Given the description of an element on the screen output the (x, y) to click on. 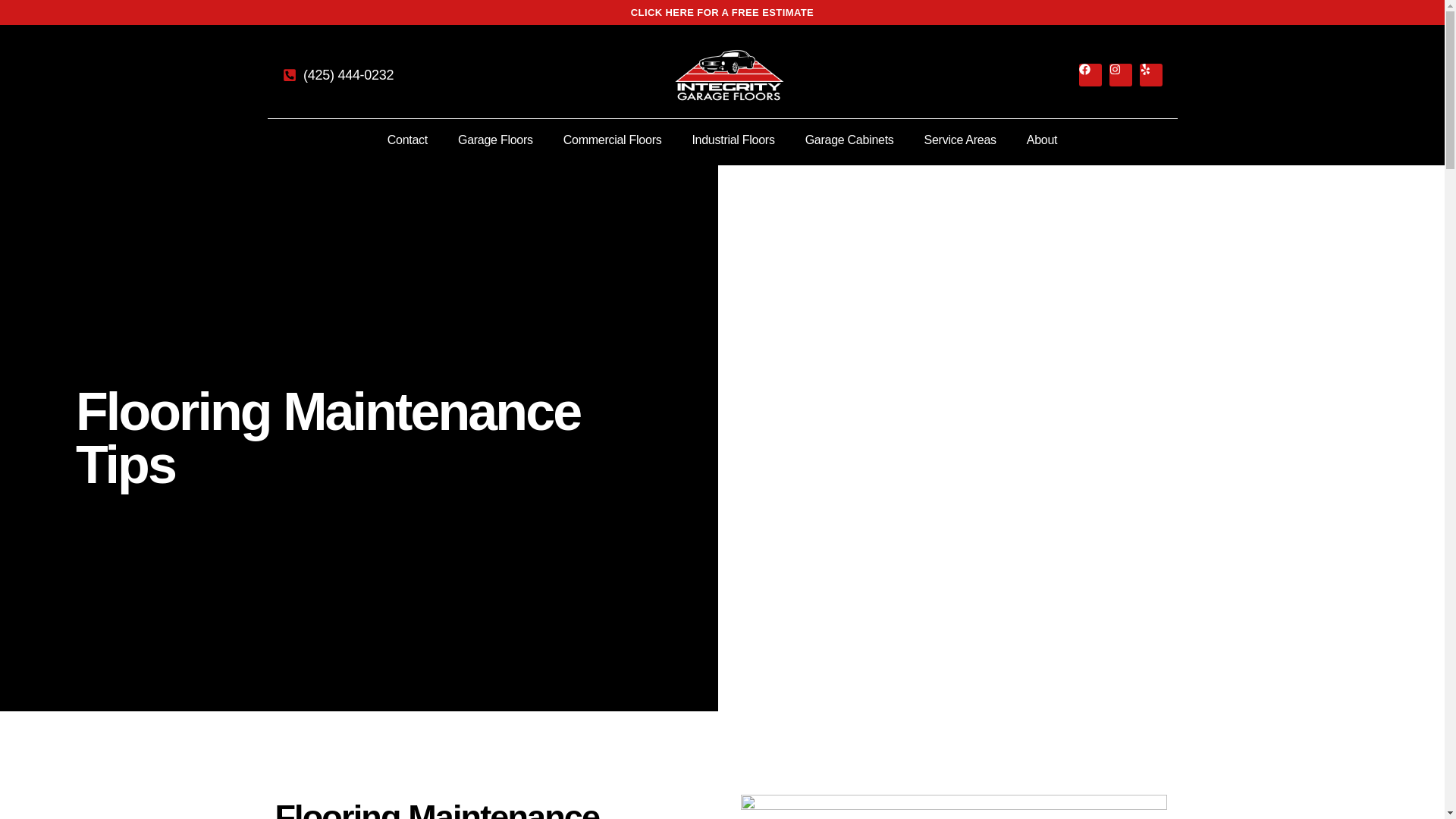
Garage Floors (495, 140)
Commercial Floors (612, 140)
Industrial Floors (733, 140)
Contact (407, 140)
About (1041, 140)
CLICK HERE FOR A FREE ESTIMATE (721, 12)
Garage Cabinets (849, 140)
Service Areas (959, 140)
